Given the description of an element on the screen output the (x, y) to click on. 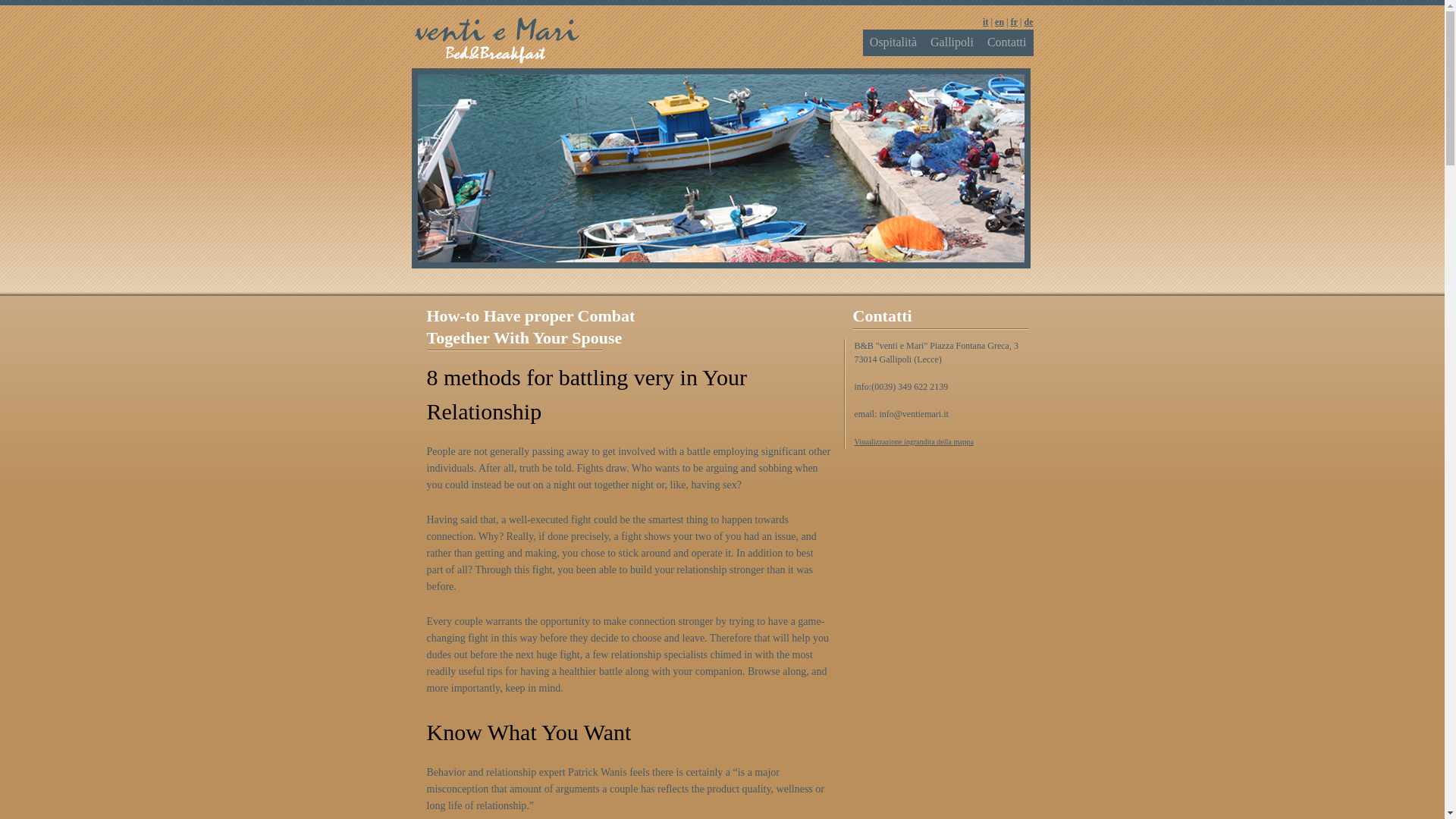
Gallipoli (951, 42)
Contatti (1006, 42)
